Given the description of an element on the screen output the (x, y) to click on. 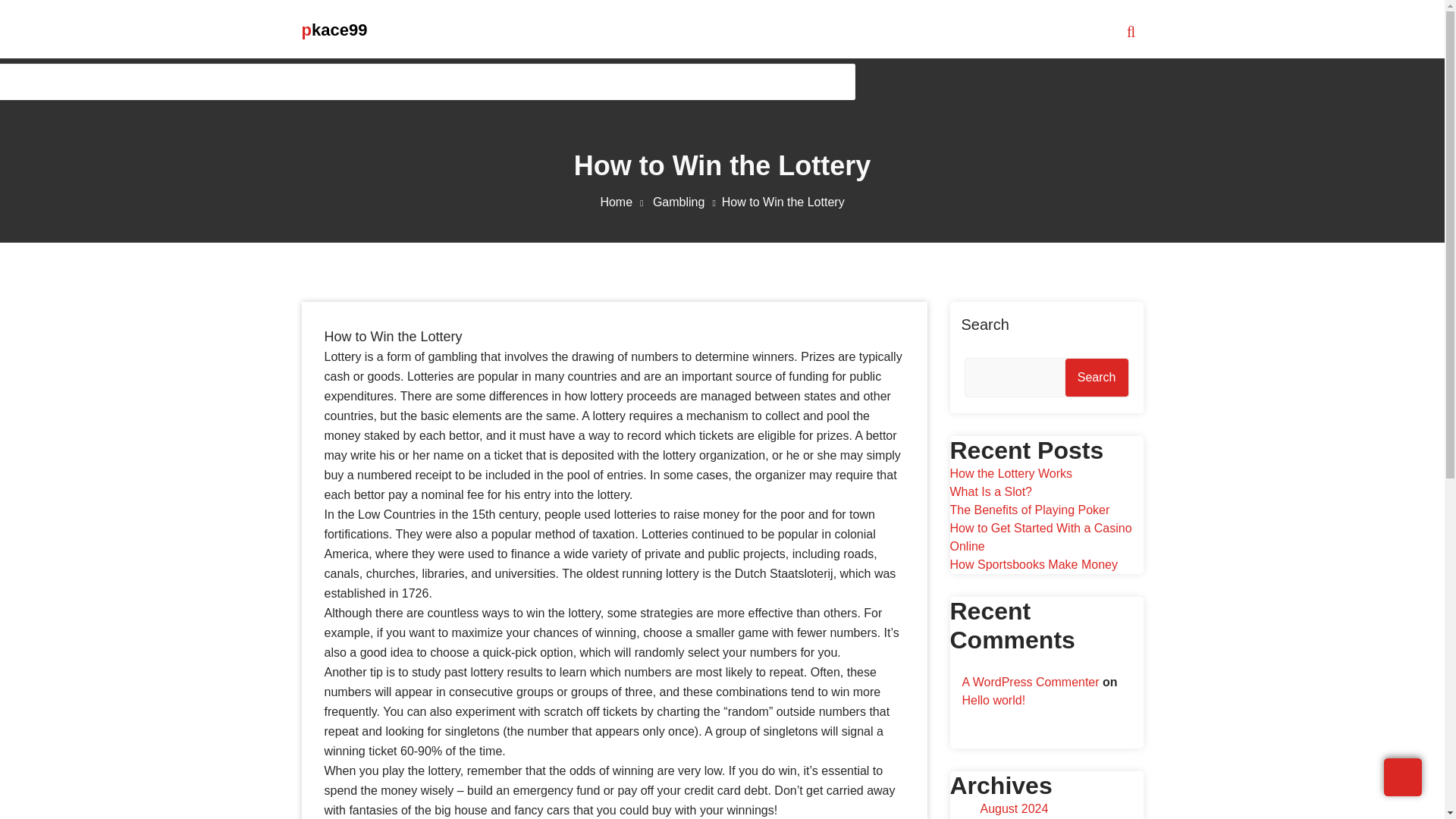
The Benefits of Playing Poker (1029, 509)
Search (1096, 377)
How Sportsbooks Make Money (1032, 563)
A WordPress Commenter (1029, 681)
Home (624, 201)
Gambling (687, 201)
What Is a Slot? (990, 491)
pkace99 (334, 30)
Hello world! (992, 699)
How to Get Started With a Casino Online (1040, 536)
August 2024 (1013, 808)
How the Lottery Works (1010, 472)
